Given the description of an element on the screen output the (x, y) to click on. 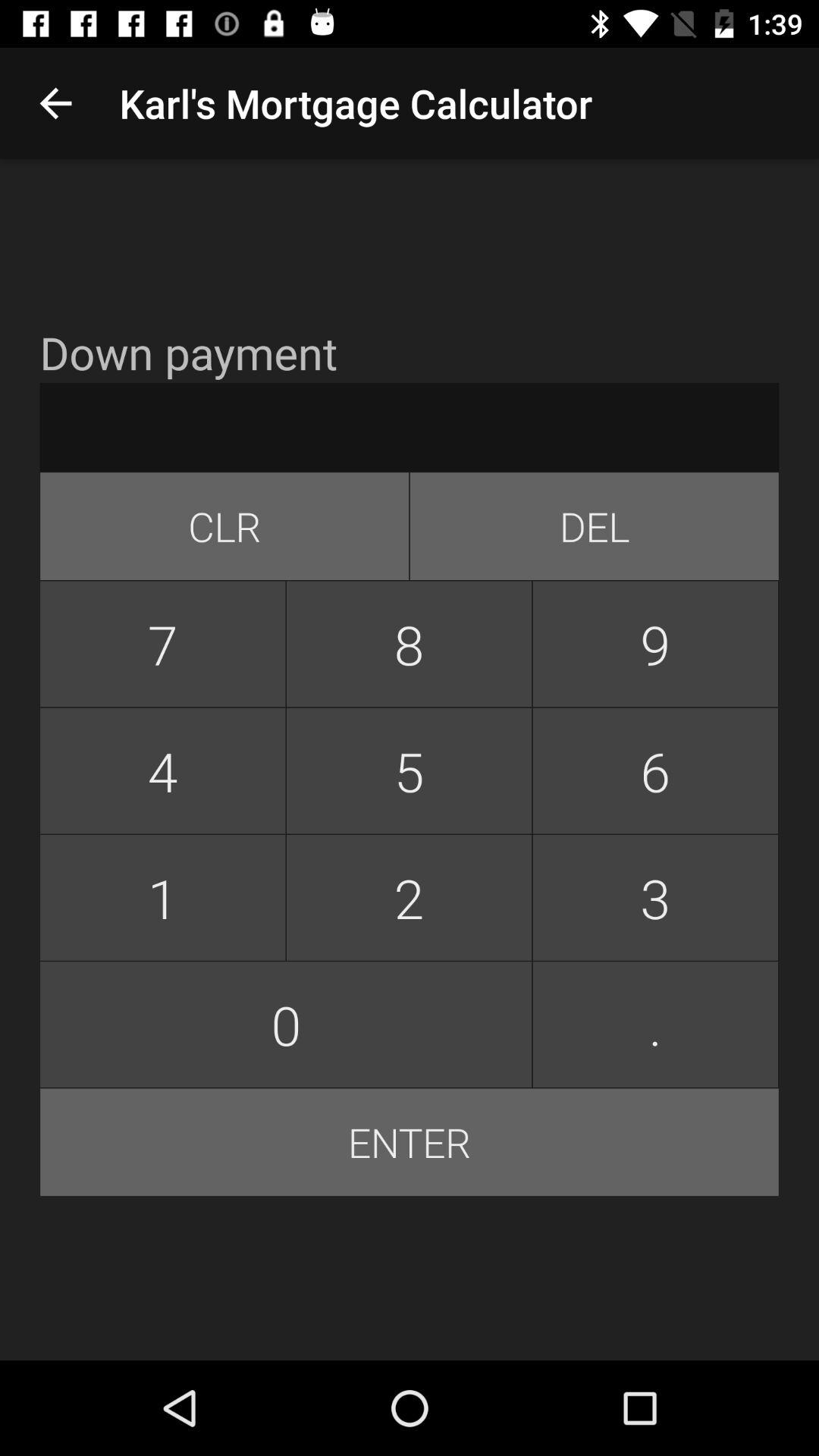
tap button to the right of 5 (655, 897)
